Given the description of an element on the screen output the (x, y) to click on. 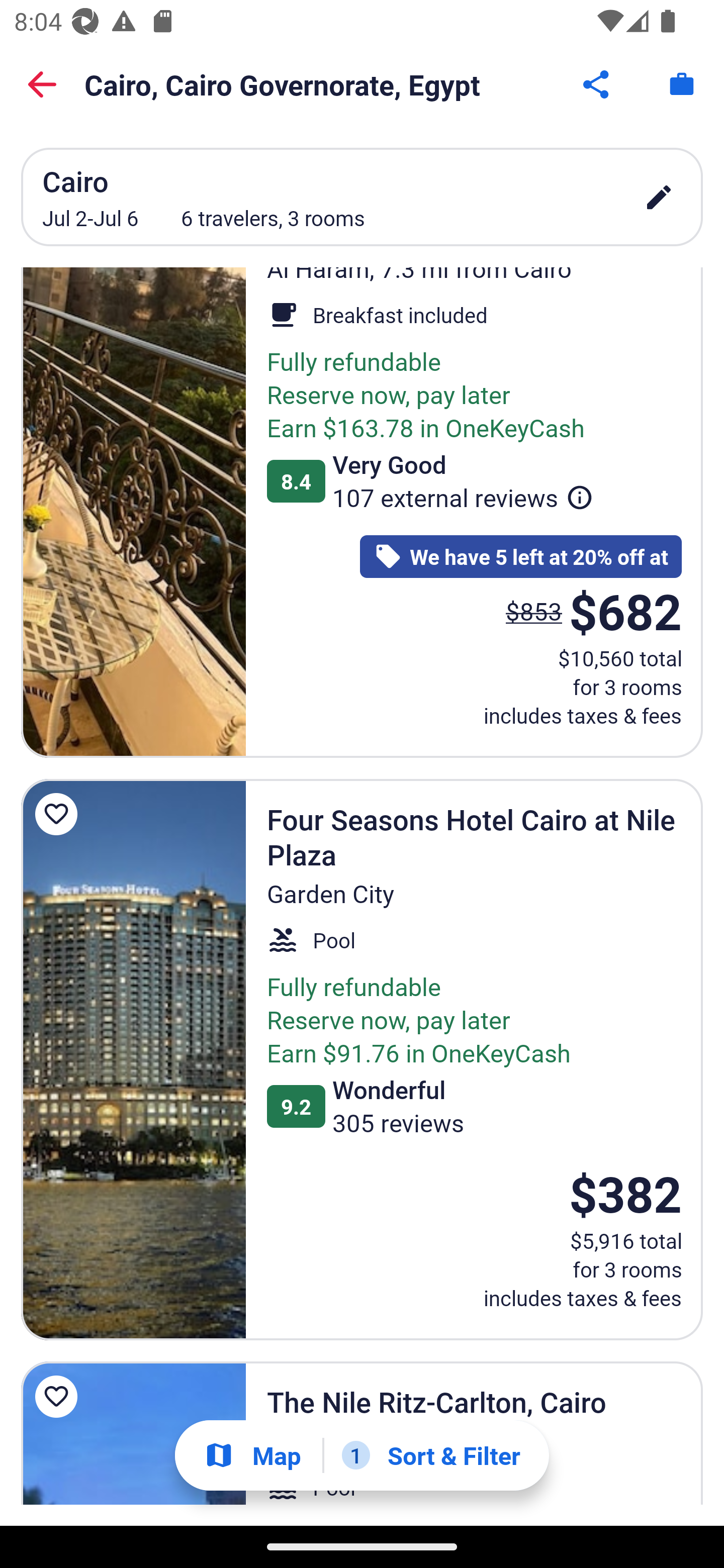
Back (42, 84)
Share Button (597, 84)
Trips. Button (681, 84)
Cairo Jul 2-Jul 6 6 travelers, 3 rooms edit (361, 196)
the museum boutique (133, 512)
$853 The price was $853 (533, 611)
Four Seasons Hotel Cairo at Nile Plaza (133, 1059)
Save The Nile Ritz-Carlton, Cairo to a trip (59, 1396)
1 Sort & Filter 1 Filter applied. Filters Button (430, 1455)
Show map Map Show map Button (252, 1455)
